Given the description of an element on the screen output the (x, y) to click on. 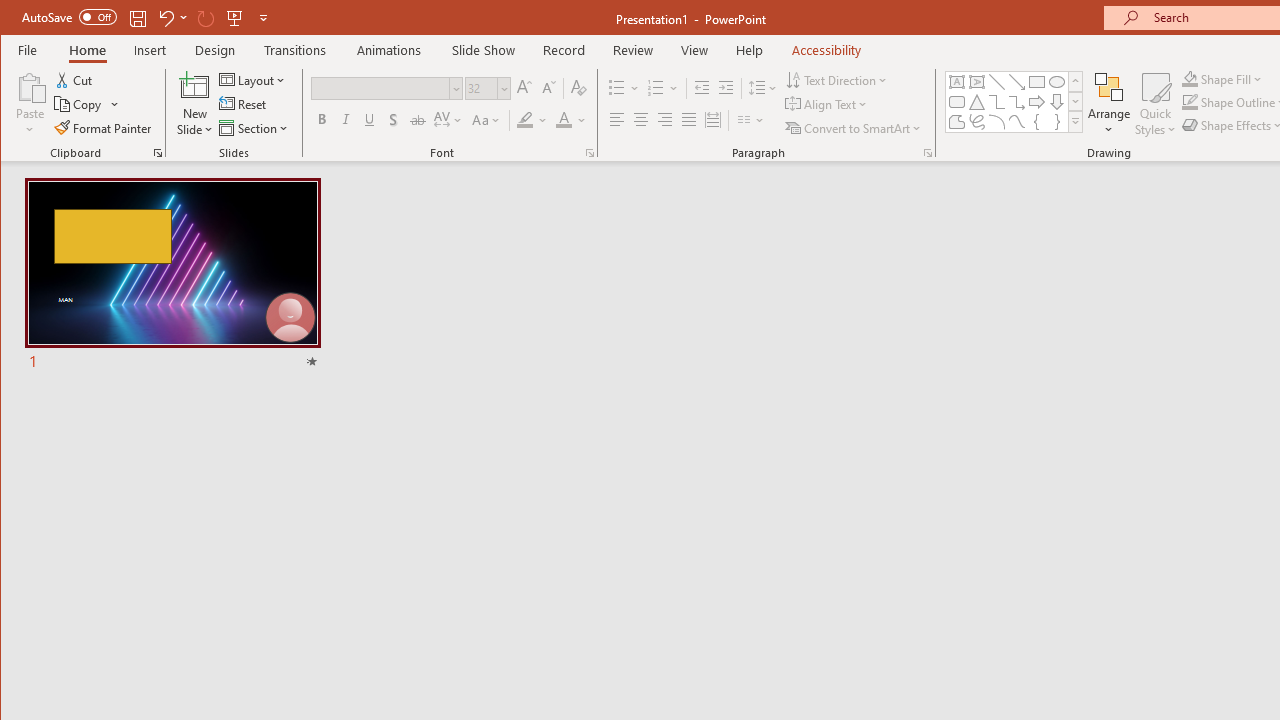
Font... (589, 152)
Increase Font Size (524, 88)
Justify (689, 119)
Decrease Indent (701, 88)
Align Text (828, 103)
Rectangle (1036, 82)
Underline (369, 119)
Strikethrough (417, 119)
Freeform: Shape (956, 121)
